Given the description of an element on the screen output the (x, y) to click on. 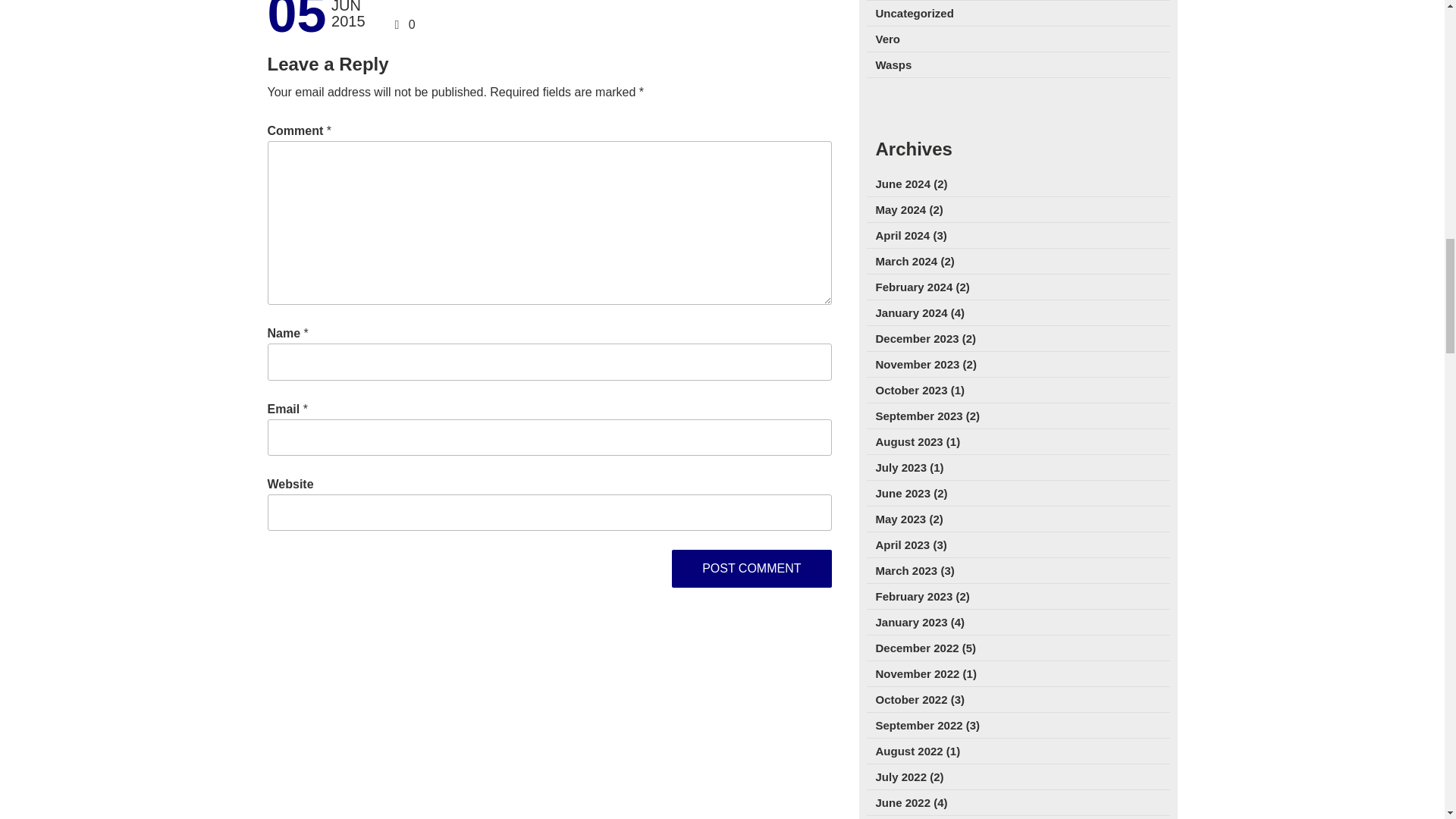
0 (411, 24)
Post Comment (751, 568)
Post Comment (751, 568)
